Given the description of an element on the screen output the (x, y) to click on. 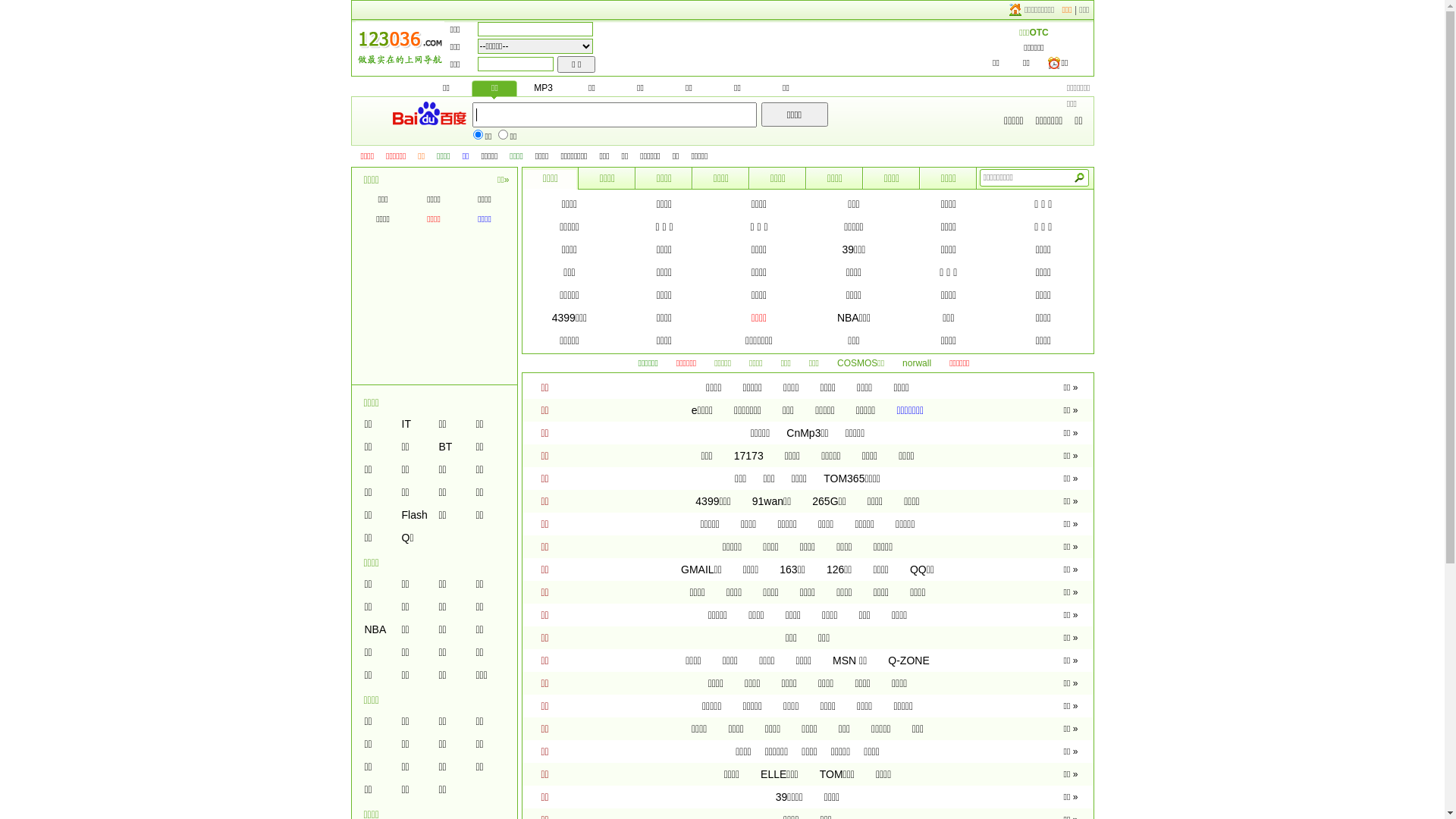
NBA Element type: text (374, 629)
Q-ZONE Element type: text (908, 660)
Flash Element type: text (414, 514)
BT Element type: text (444, 446)
IT Element type: text (406, 423)
17173 Element type: text (748, 455)
norwall Element type: text (916, 362)
